Given the description of an element on the screen output the (x, y) to click on. 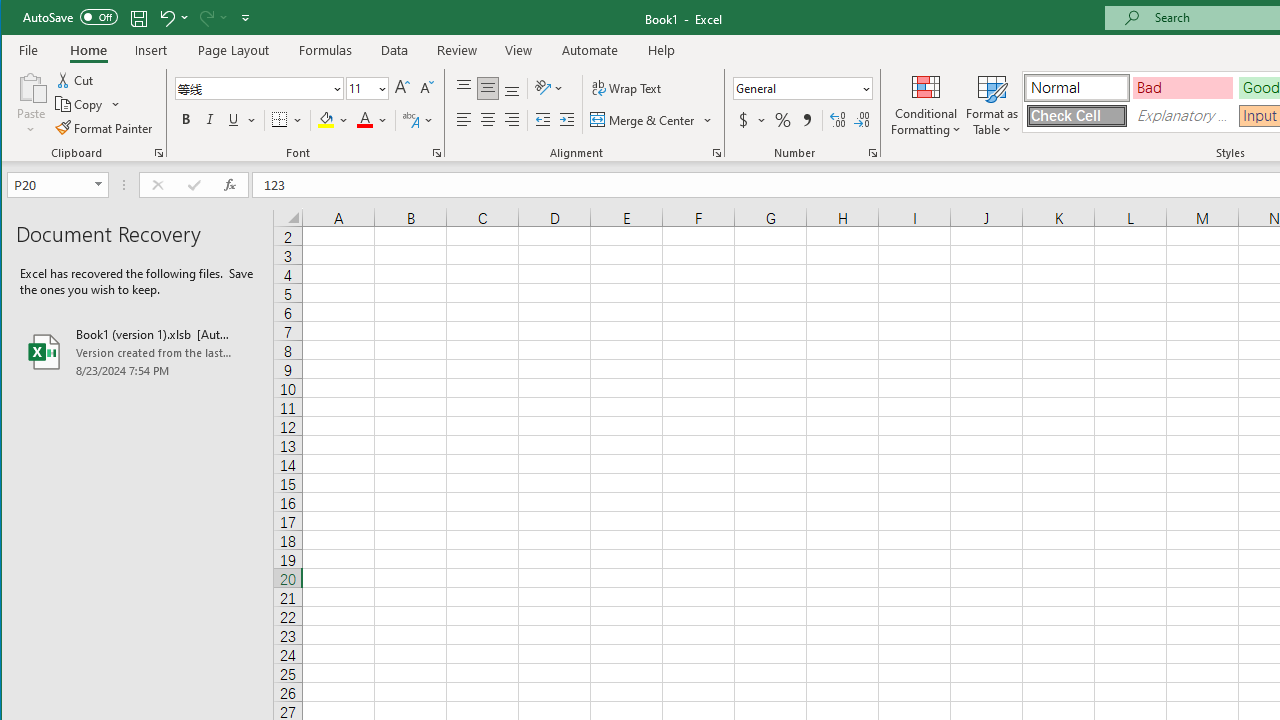
Accounting Number Format (751, 119)
Format Painter (105, 127)
Office Clipboard... (158, 152)
Font Size (360, 88)
Format Cell Number (872, 152)
Decrease Indent (543, 119)
Italic (209, 119)
Center (488, 119)
Copy (80, 103)
Cut (75, 80)
Number Format (795, 88)
Middle Align (488, 88)
